Given the description of an element on the screen output the (x, y) to click on. 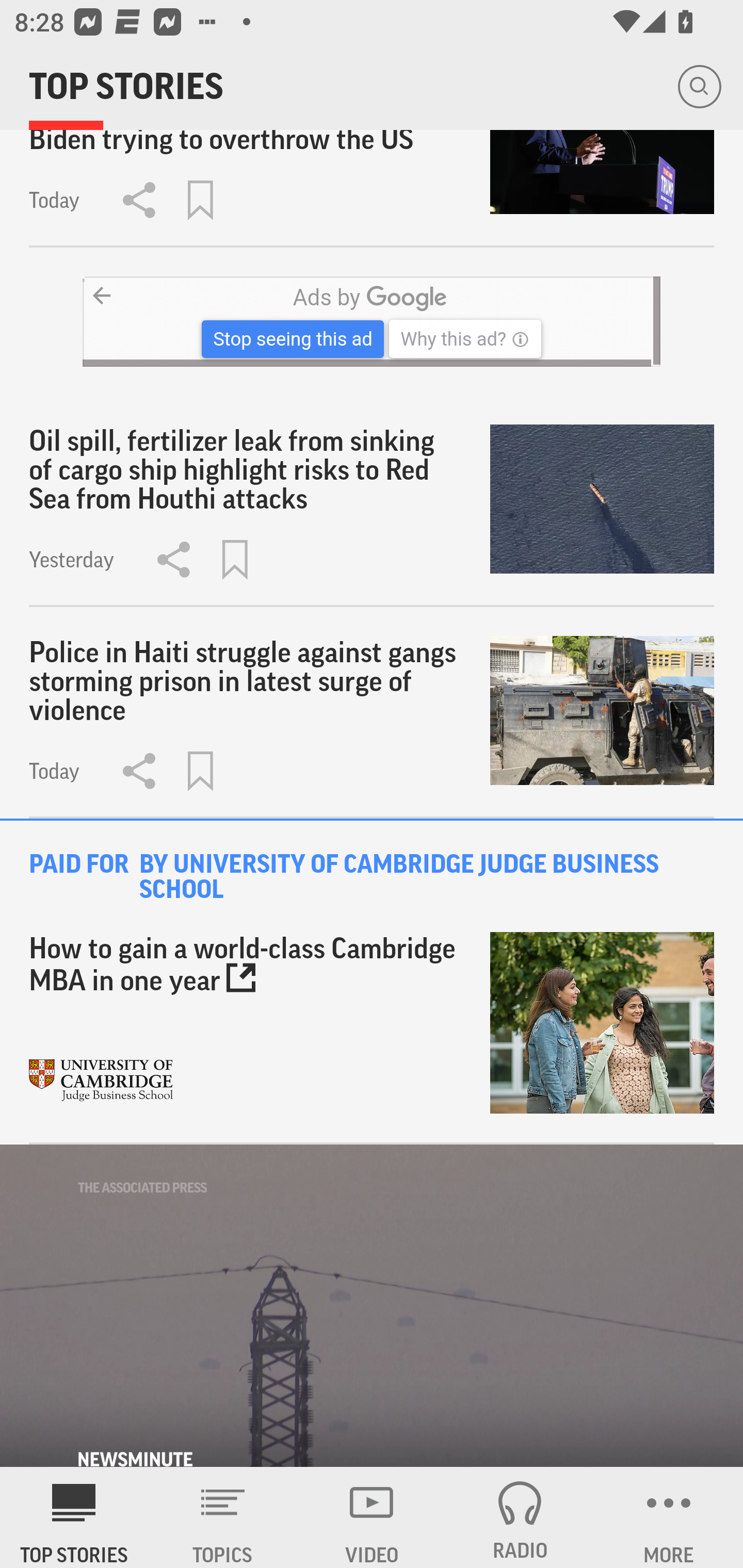
toggle controls (371, 1305)
AP News TOP STORIES (74, 1517)
TOPICS (222, 1517)
VIDEO (371, 1517)
RADIO (519, 1517)
MORE (668, 1517)
